Given the description of an element on the screen output the (x, y) to click on. 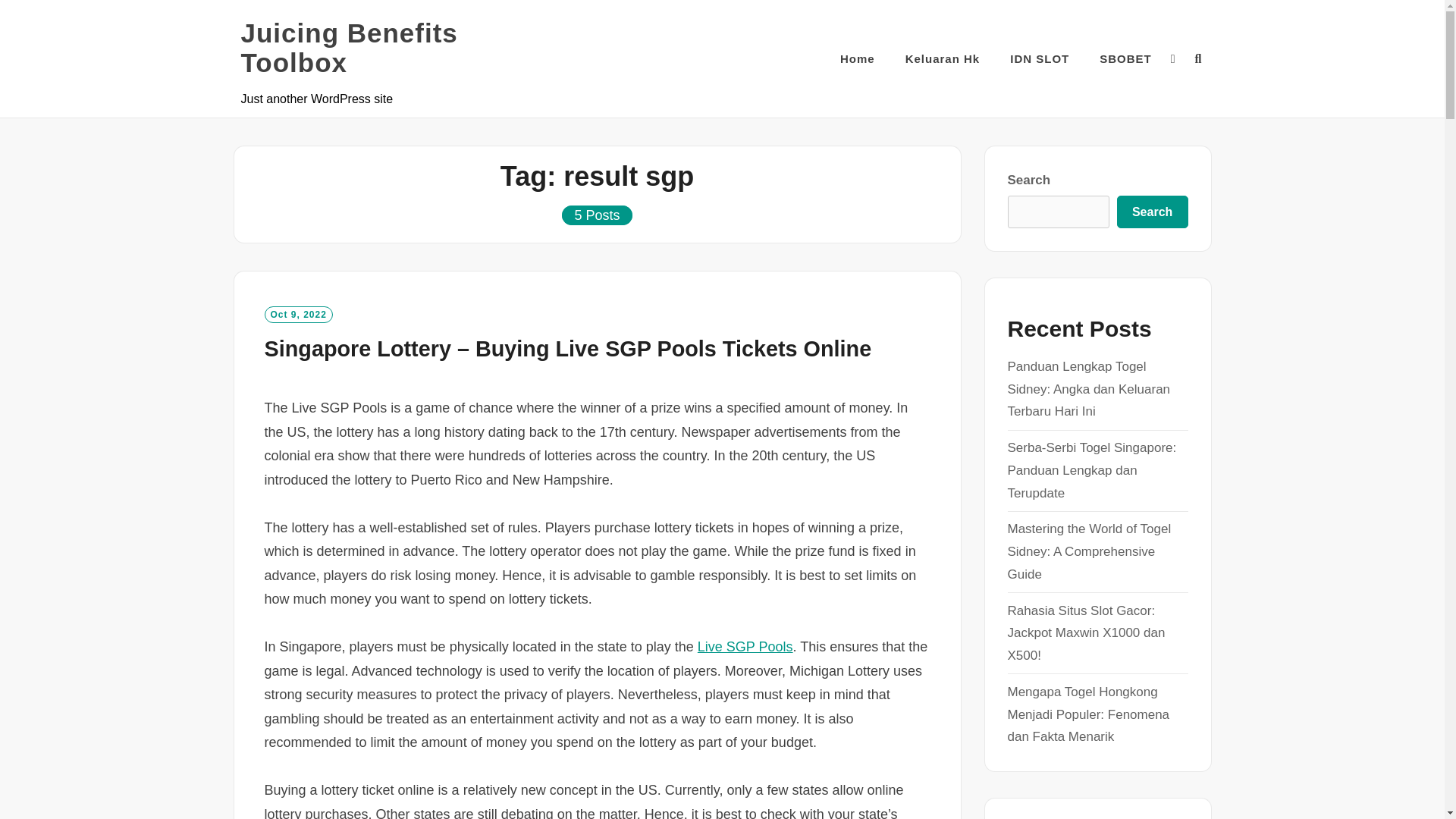
SBOBET (1125, 57)
Search (1152, 212)
Keluaran Hk (942, 57)
Live SGP Pools (745, 646)
IDN SLOT (1039, 57)
Home (857, 57)
Oct 9, 2022 (297, 314)
Juicing Benefits Toolbox (392, 47)
Serba-Serbi Togel Singapore: Panduan Lengkap dan Terupdate (1091, 470)
